Given the description of an element on the screen output the (x, y) to click on. 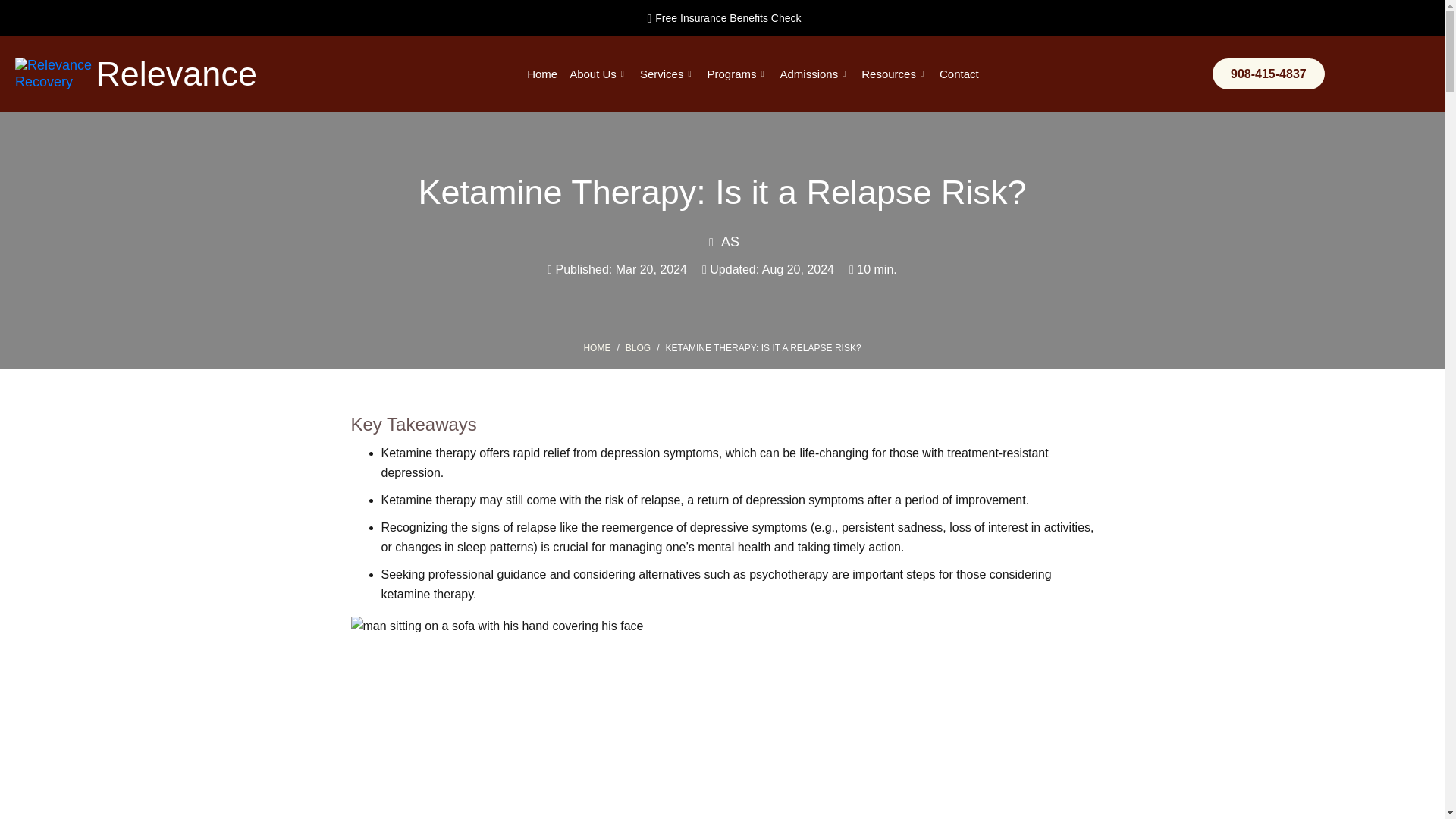
Free Insurance Benefits Check (721, 17)
Services (667, 74)
About Us (598, 74)
Home (542, 74)
Relevance (176, 73)
